Given the description of an element on the screen output the (x, y) to click on. 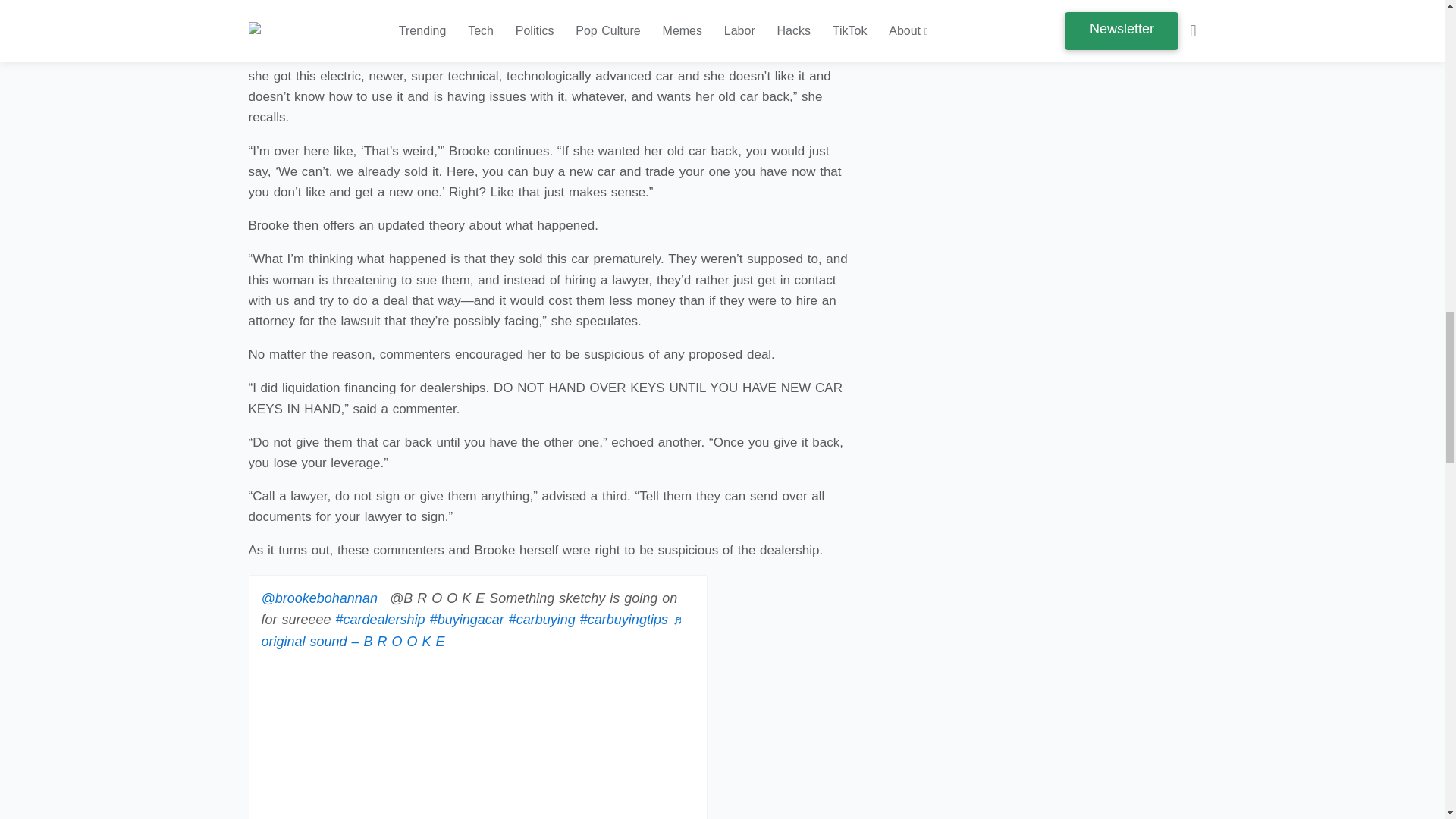
carbuying (541, 619)
buyingacar (466, 619)
carbuyingtips (623, 619)
cardealership (380, 619)
